Given the description of an element on the screen output the (x, y) to click on. 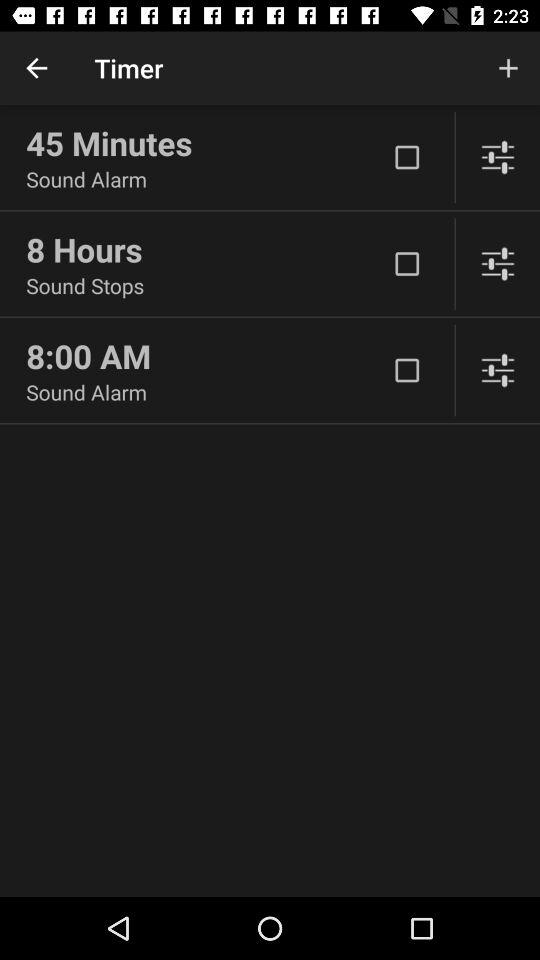
click icon to the right of the timer icon (508, 67)
